Given the description of an element on the screen output the (x, y) to click on. 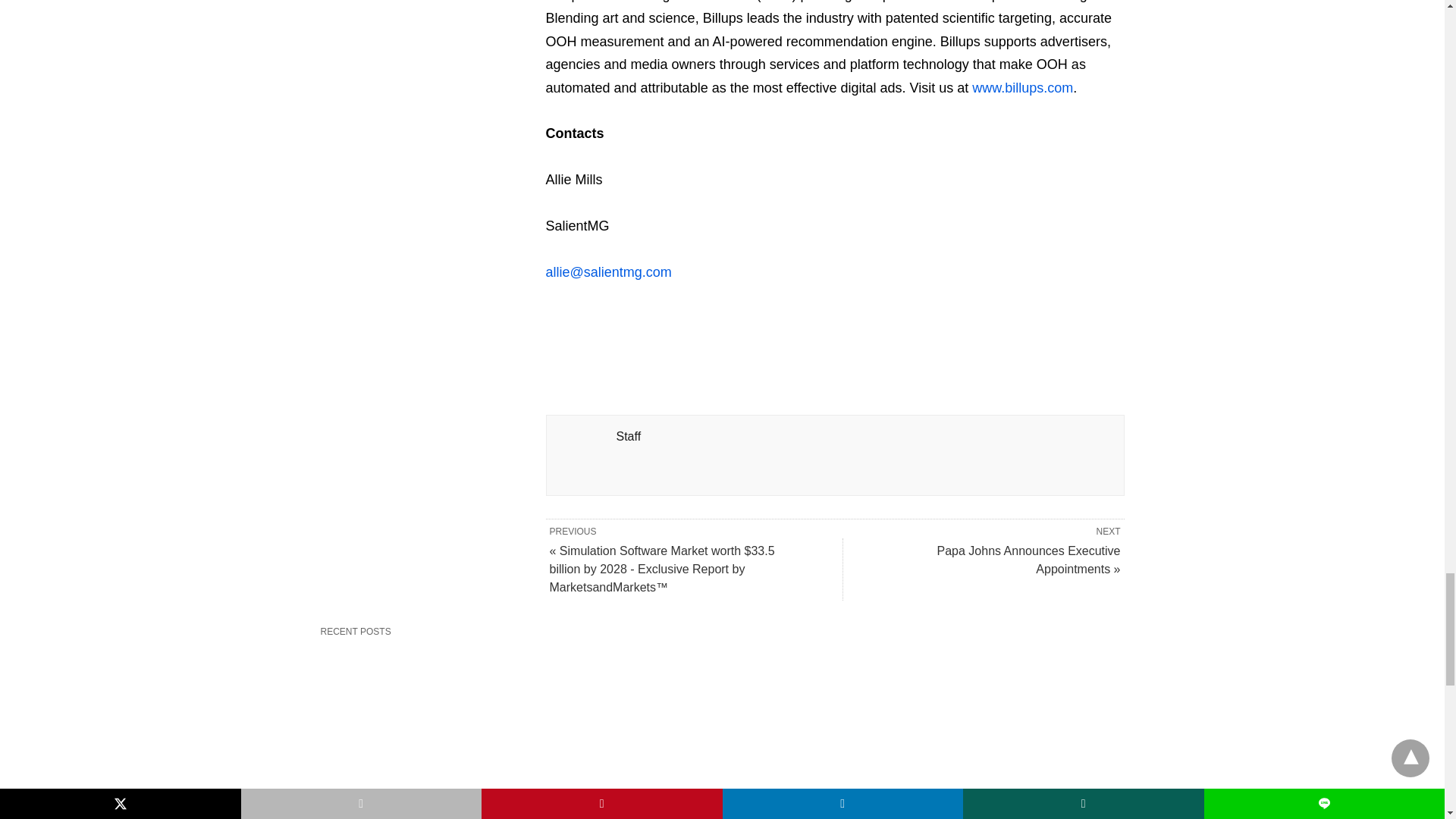
Twitter (582, 326)
Facebook (558, 326)
www.billups.com (1022, 87)
